Given the description of an element on the screen output the (x, y) to click on. 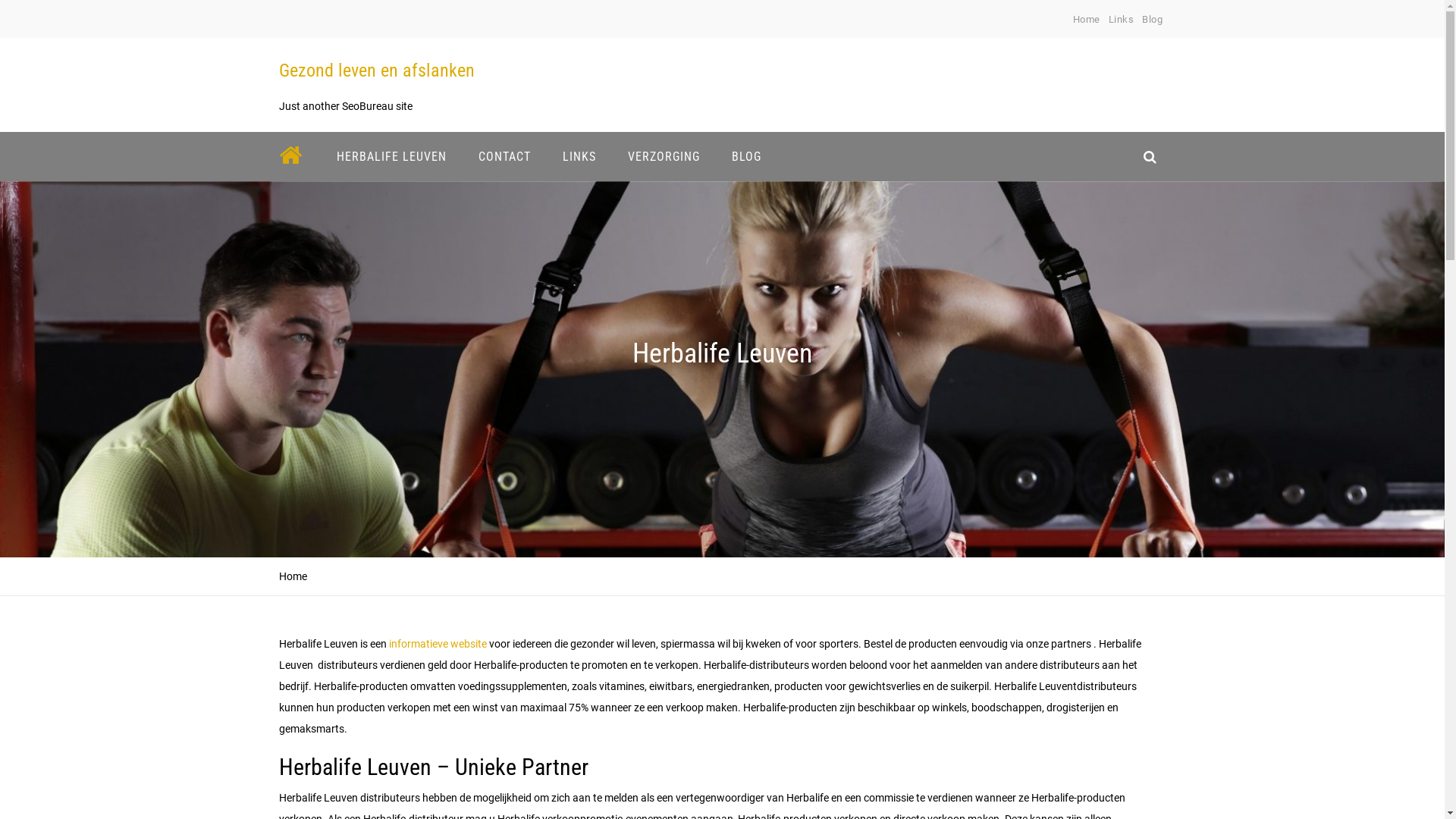
search_icon Element type: hover (1148, 156)
Home Element type: text (1086, 19)
informatieve website Element type: text (437, 643)
CONTACT Element type: text (504, 156)
VERZORGING Element type: text (663, 156)
Links Element type: text (1121, 19)
HERBALIFE LEUVEN Element type: text (390, 156)
Gezond leven en afslanken Element type: text (376, 70)
Blog Element type: text (1152, 19)
BLOG Element type: text (746, 156)
LINKS Element type: text (578, 156)
